Given the description of an element on the screen output the (x, y) to click on. 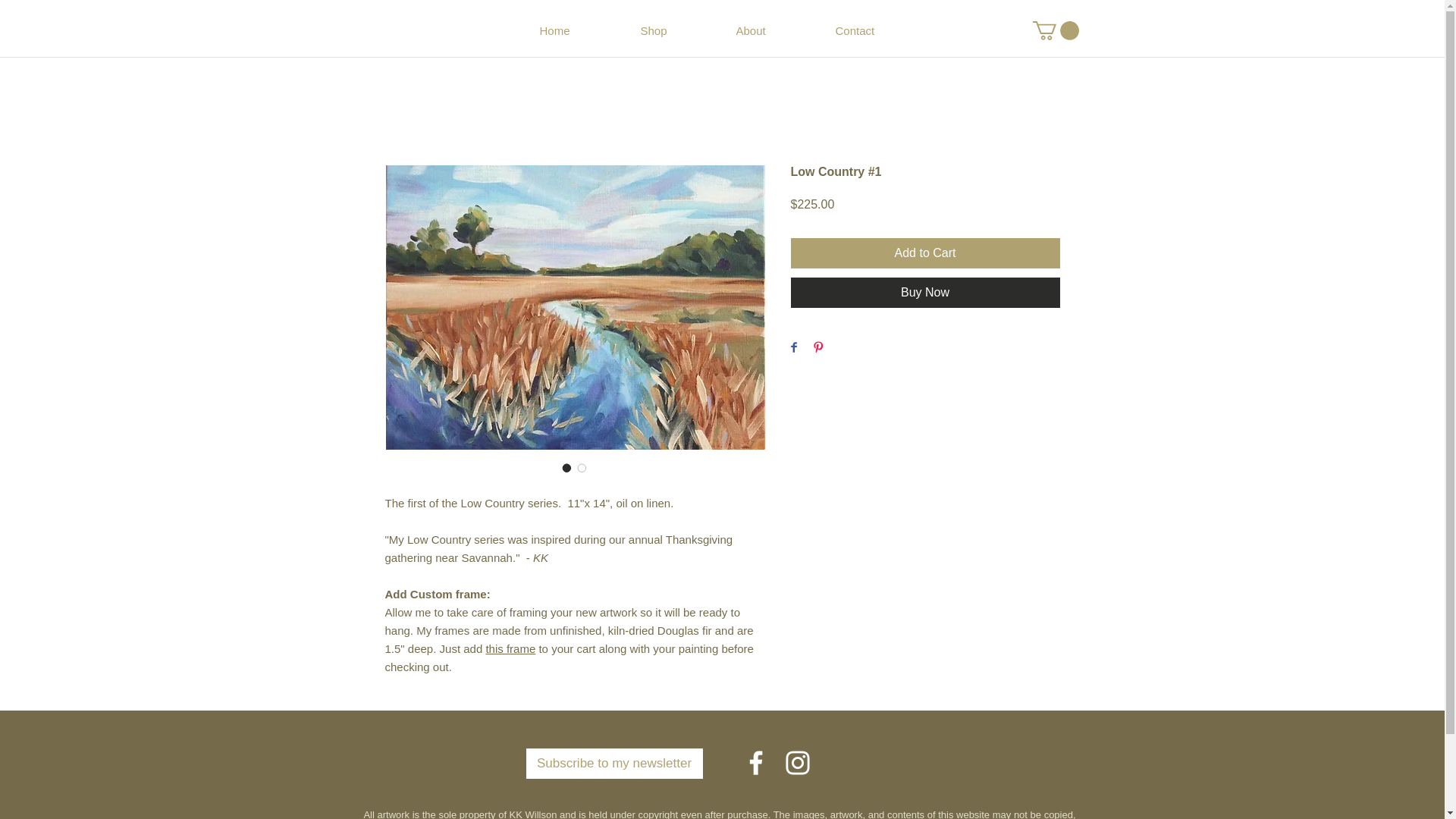
Home (588, 30)
Contact (887, 30)
Add to Cart (924, 253)
Buy Now (924, 292)
About (783, 30)
Subscribe to my newsletter (614, 763)
Shop (686, 30)
this frame (509, 648)
